Given the description of an element on the screen output the (x, y) to click on. 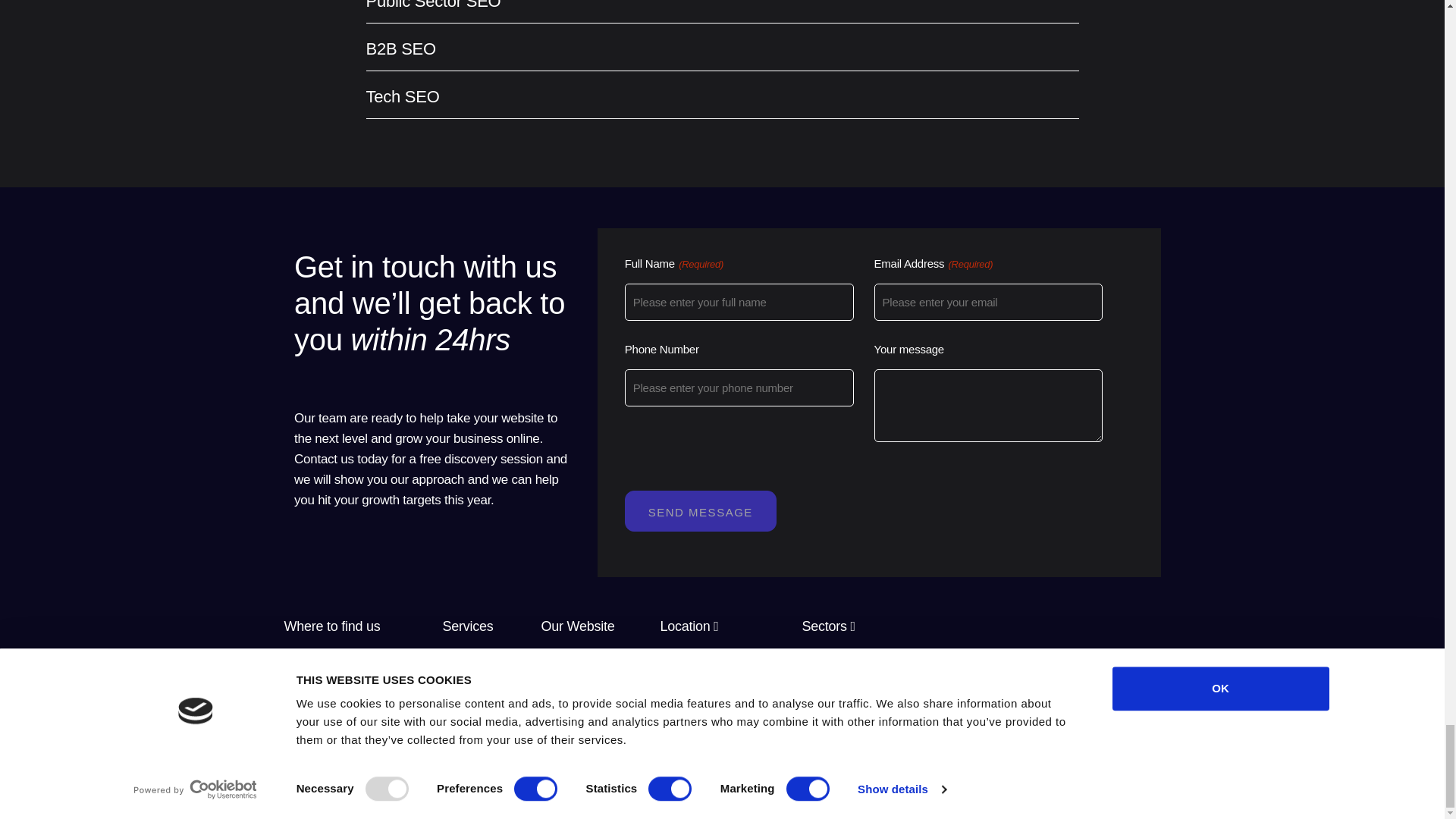
SEND MESSAGE (700, 509)
